Given the description of an element on the screen output the (x, y) to click on. 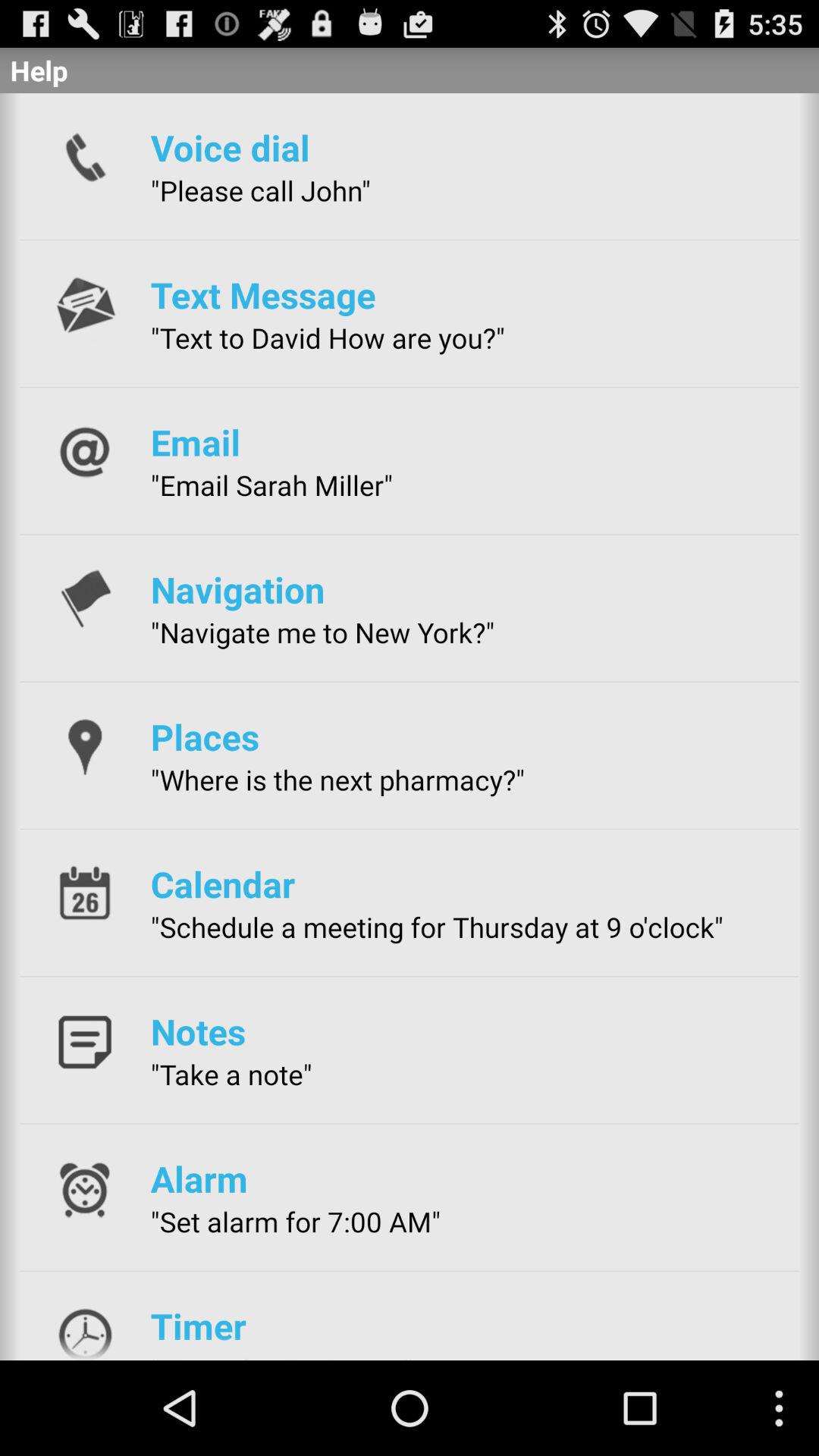
tap the places item (204, 736)
